Given the description of an element on the screen output the (x, y) to click on. 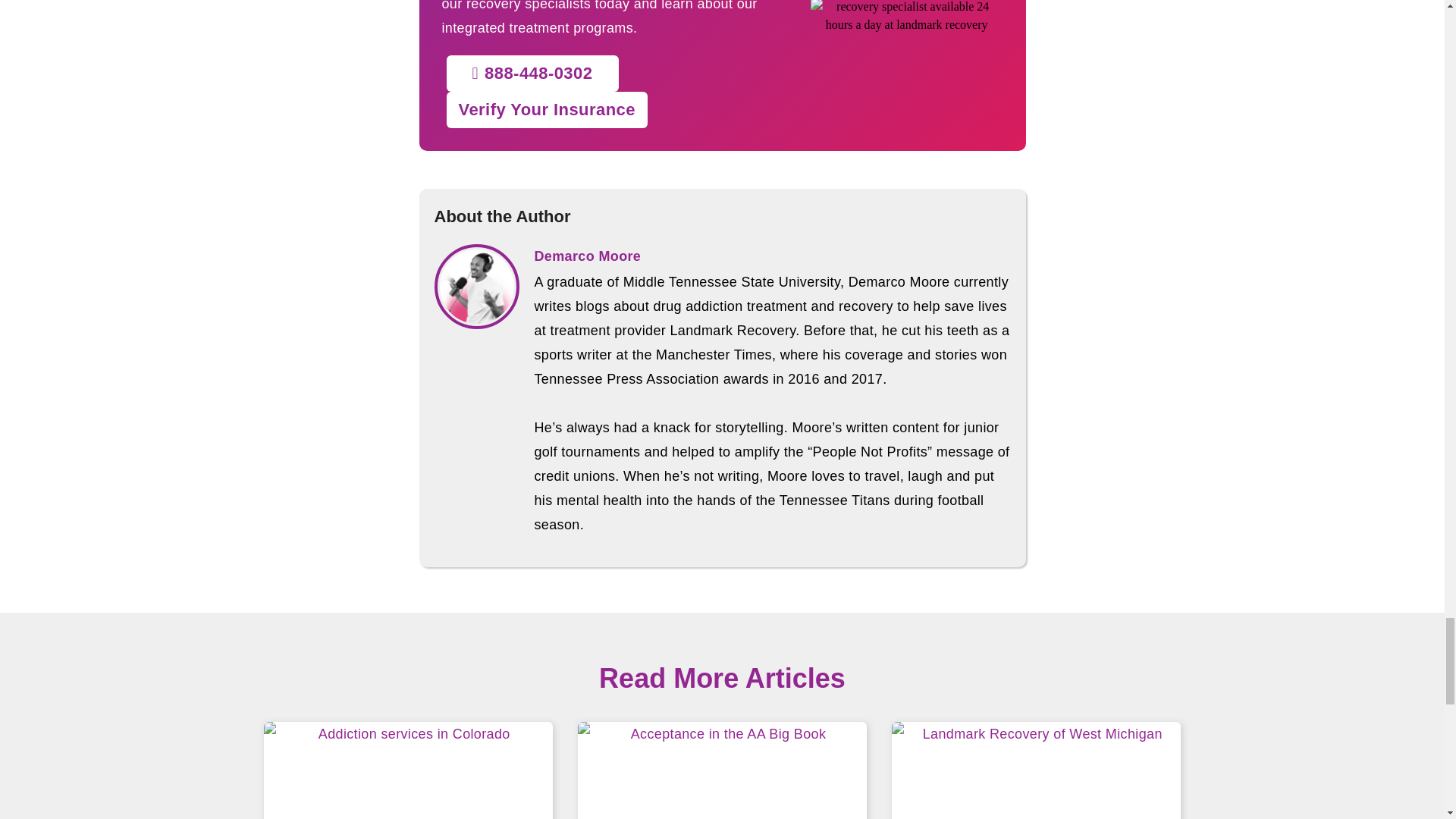
Permanent Link to Acceptance in the AA Big Book (722, 770)
